Given the description of an element on the screen output the (x, y) to click on. 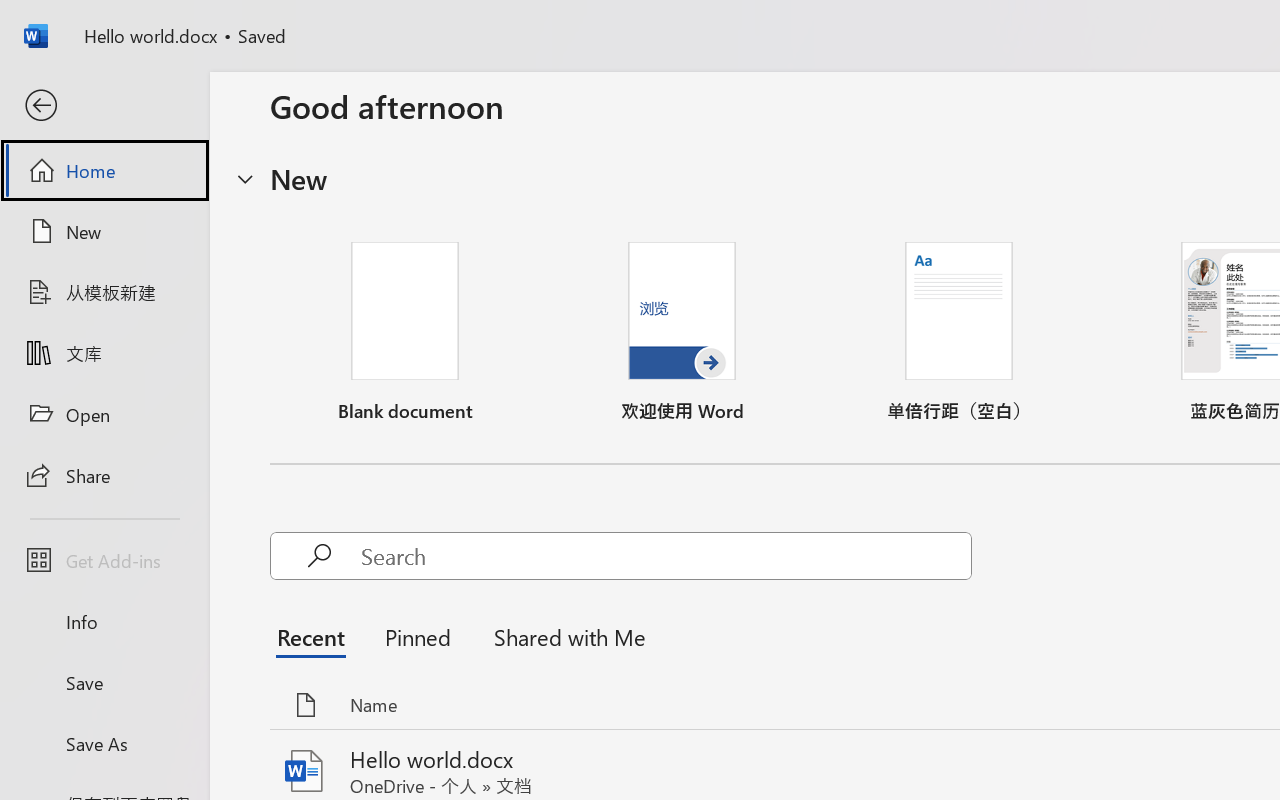
Get Add-ins (104, 560)
Blank document (405, 332)
Pinned (417, 636)
Home (104, 170)
